Given the description of an element on the screen output the (x, y) to click on. 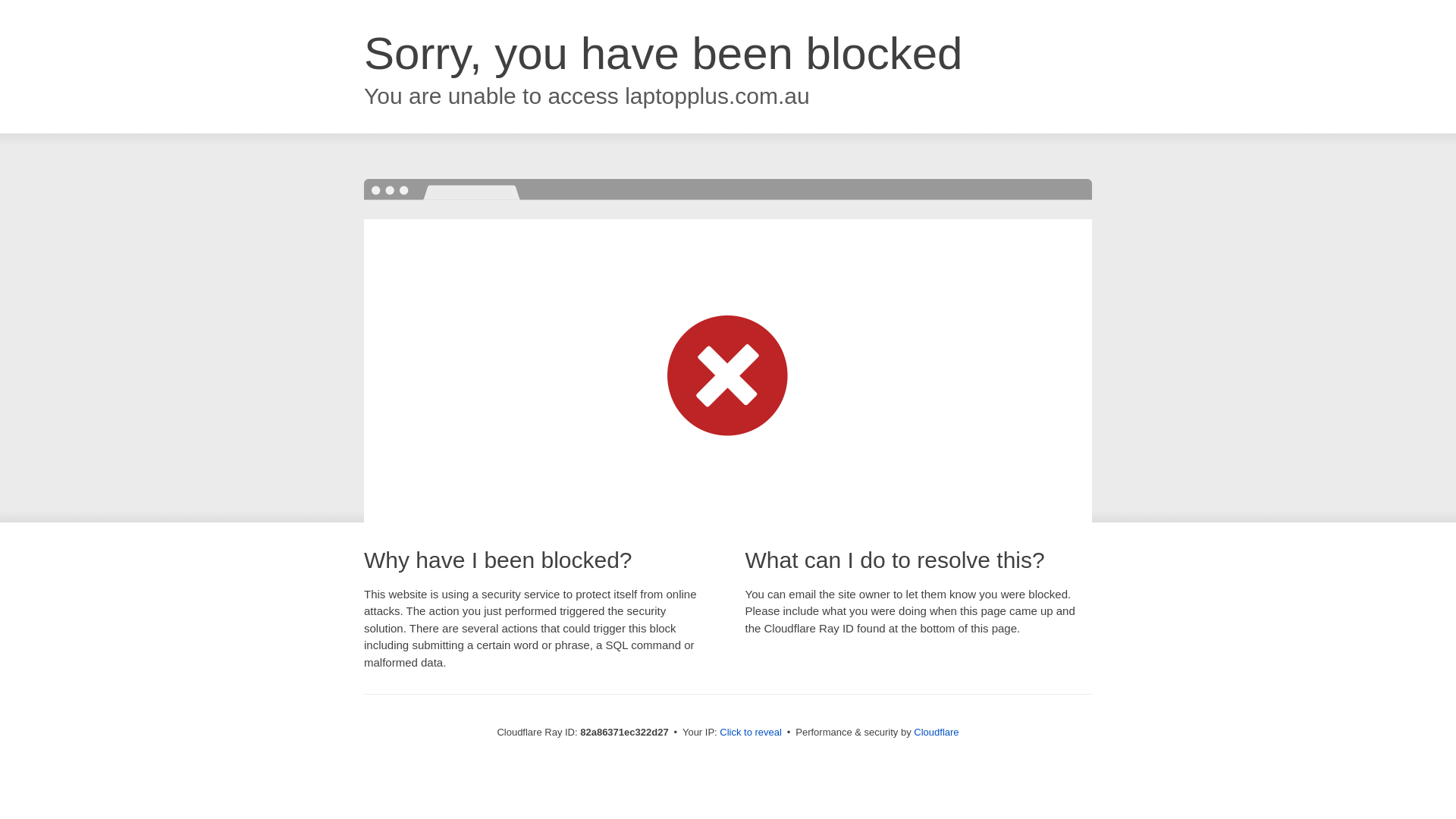
Cloudflare Element type: text (935, 731)
Click to reveal Element type: text (750, 732)
